Given the description of an element on the screen output the (x, y) to click on. 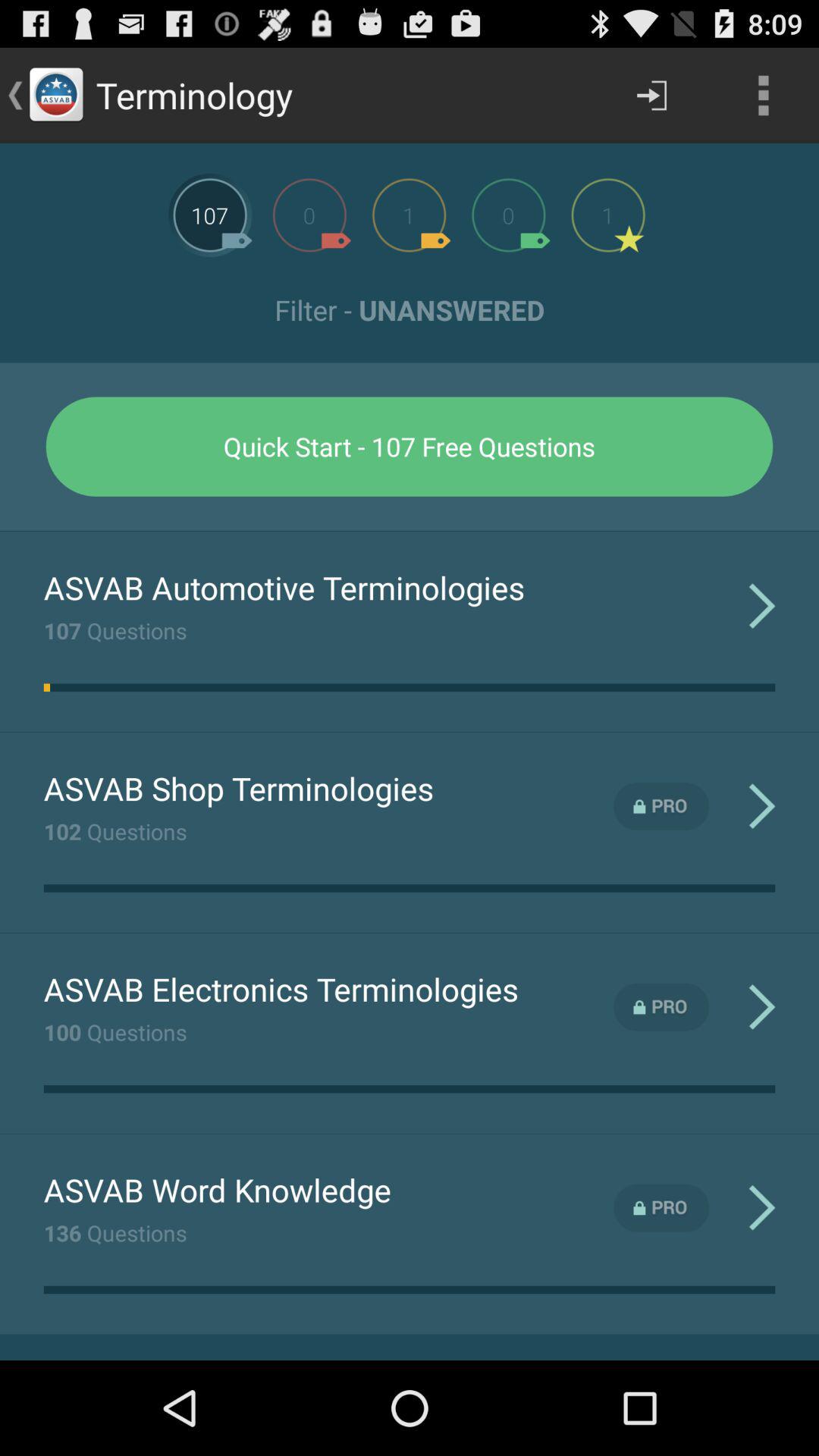
flip until the 100 questions icon (115, 1031)
